Given the description of an element on the screen output the (x, y) to click on. 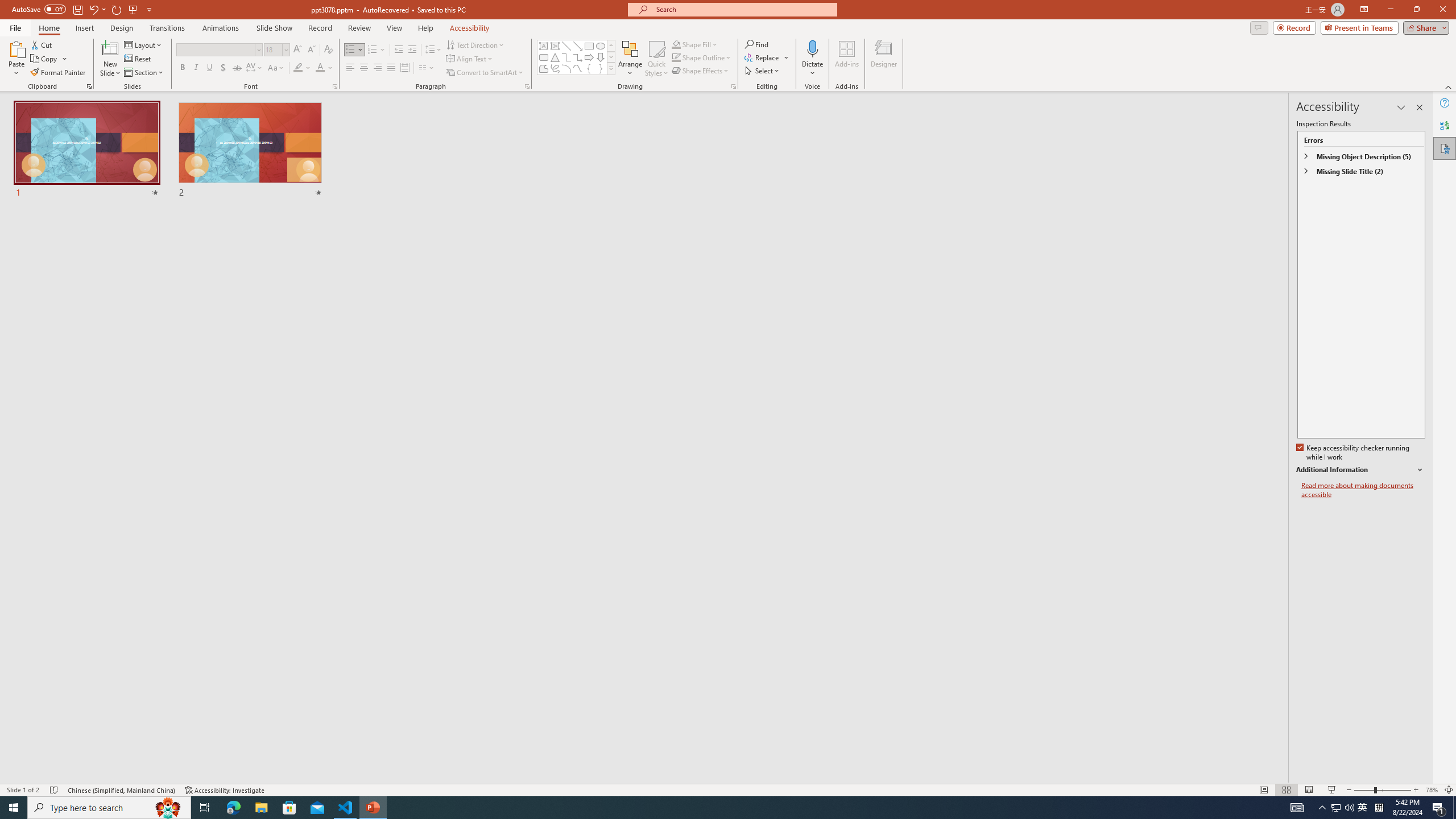
Keep accessibility checker running while I work (1353, 452)
